Given the description of an element on the screen output the (x, y) to click on. 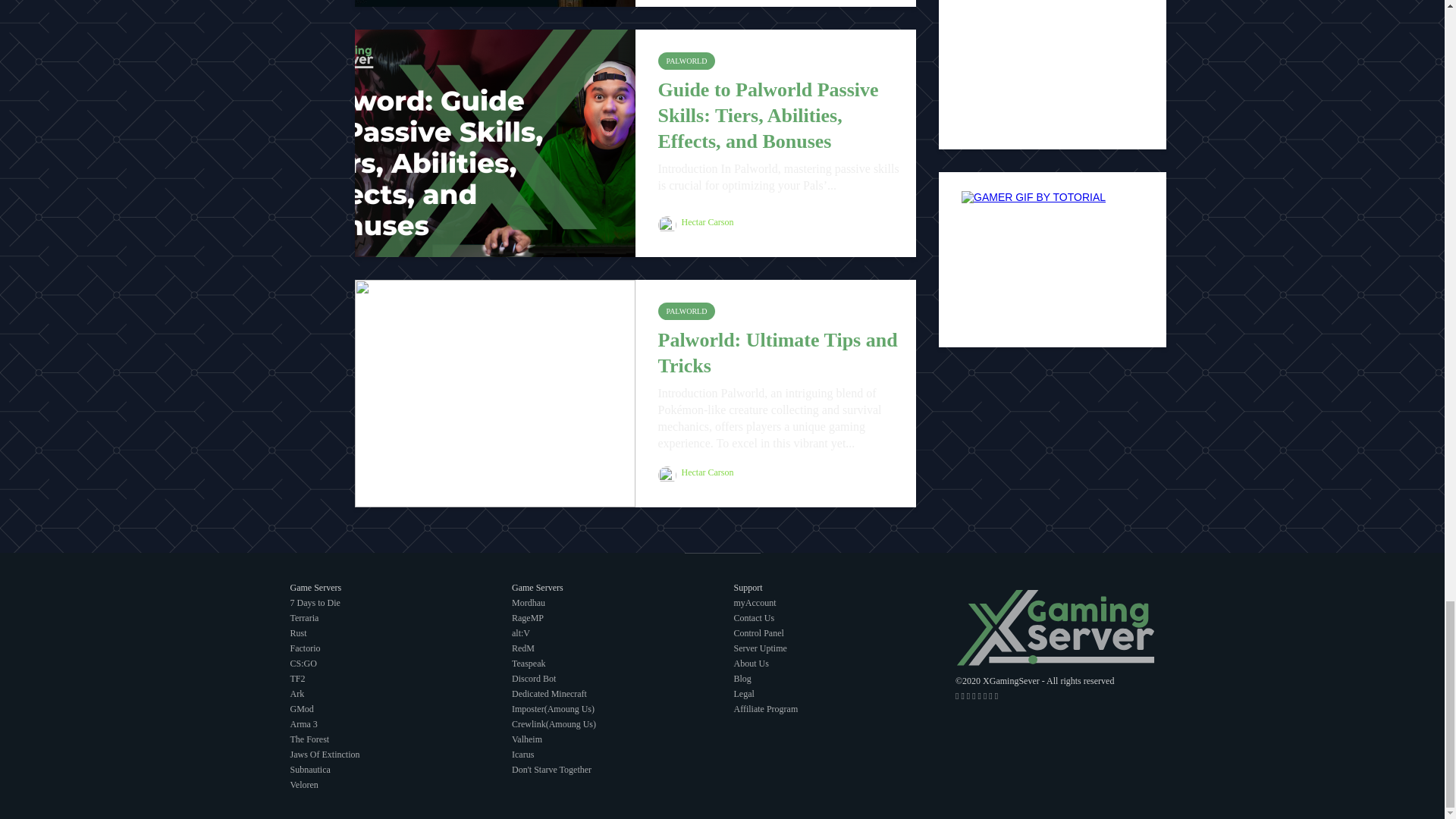
gamer (1051, 246)
Palworld: Ultimate Tips and Tricks (494, 391)
